Given the description of an element on the screen output the (x, y) to click on. 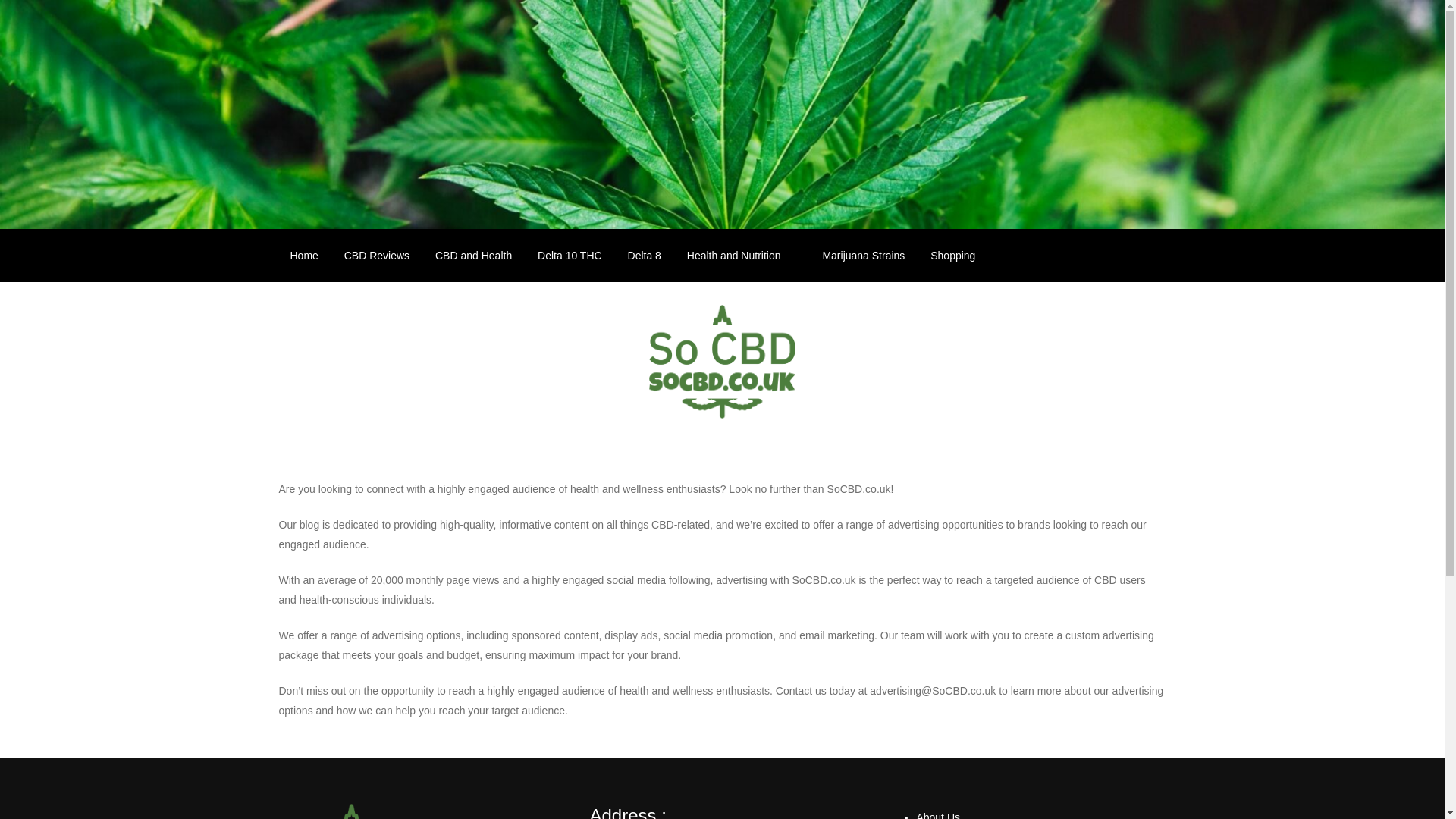
Marijuana Strains (862, 255)
Shopping (960, 255)
CBD Reviews (376, 255)
About Us (937, 815)
Delta 8 (643, 255)
Health and Nutrition (741, 255)
Delta 10 THC (568, 255)
Home (304, 255)
socbd.co.uk (371, 459)
CBD and Health (472, 255)
